Given the description of an element on the screen output the (x, y) to click on. 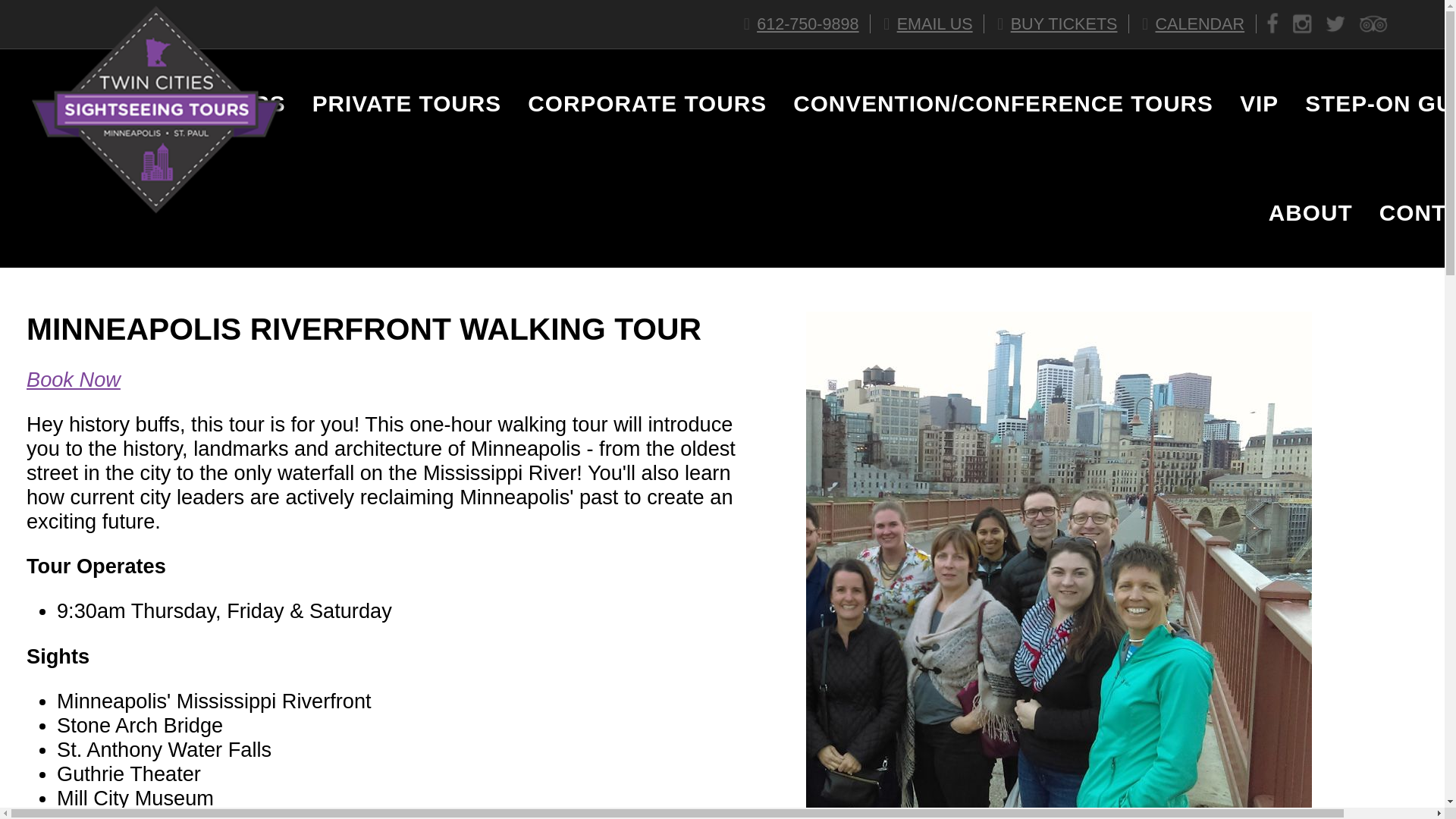
Trip Advisor (1373, 23)
Instagram (1302, 23)
PUBLIC TOURS (183, 103)
Twin Cities Sightseeing Tours (156, 211)
CALENDAR (1194, 24)
Twitter (1335, 23)
EMAIL US (930, 24)
PRIVATE TOURS (393, 103)
BUY TICKETS (1059, 24)
612-750-9898 (803, 24)
